Given the description of an element on the screen output the (x, y) to click on. 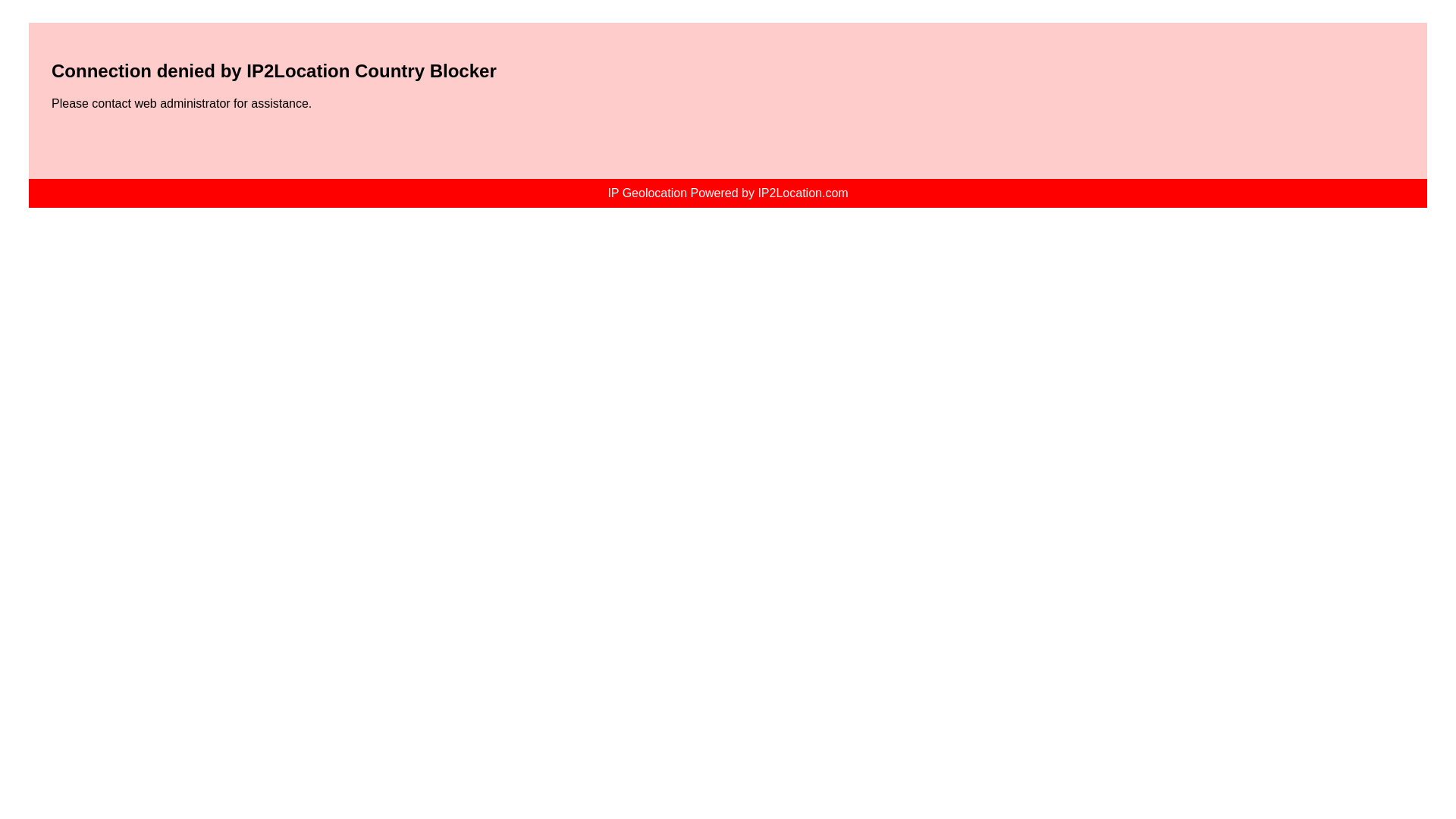
IP Geolocation Powered by IP2Location.com Element type: text (727, 192)
